Given the description of an element on the screen output the (x, y) to click on. 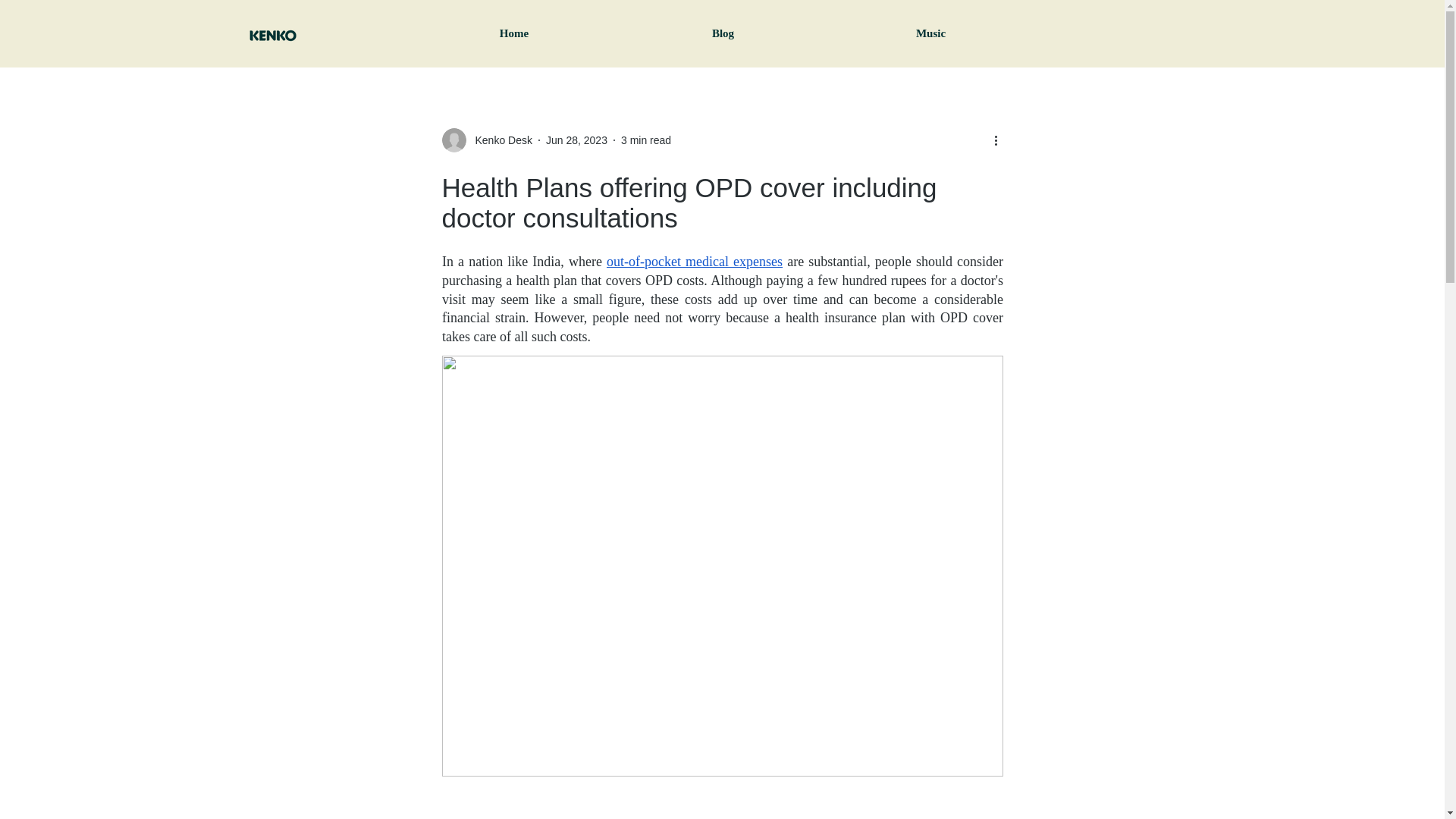
Jun 28, 2023 (576, 139)
3 min read (646, 139)
Kenko Desk (498, 139)
out-of-pocket medical expenses (693, 261)
Music (930, 33)
Home (514, 33)
Blog (722, 33)
